Given the description of an element on the screen output the (x, y) to click on. 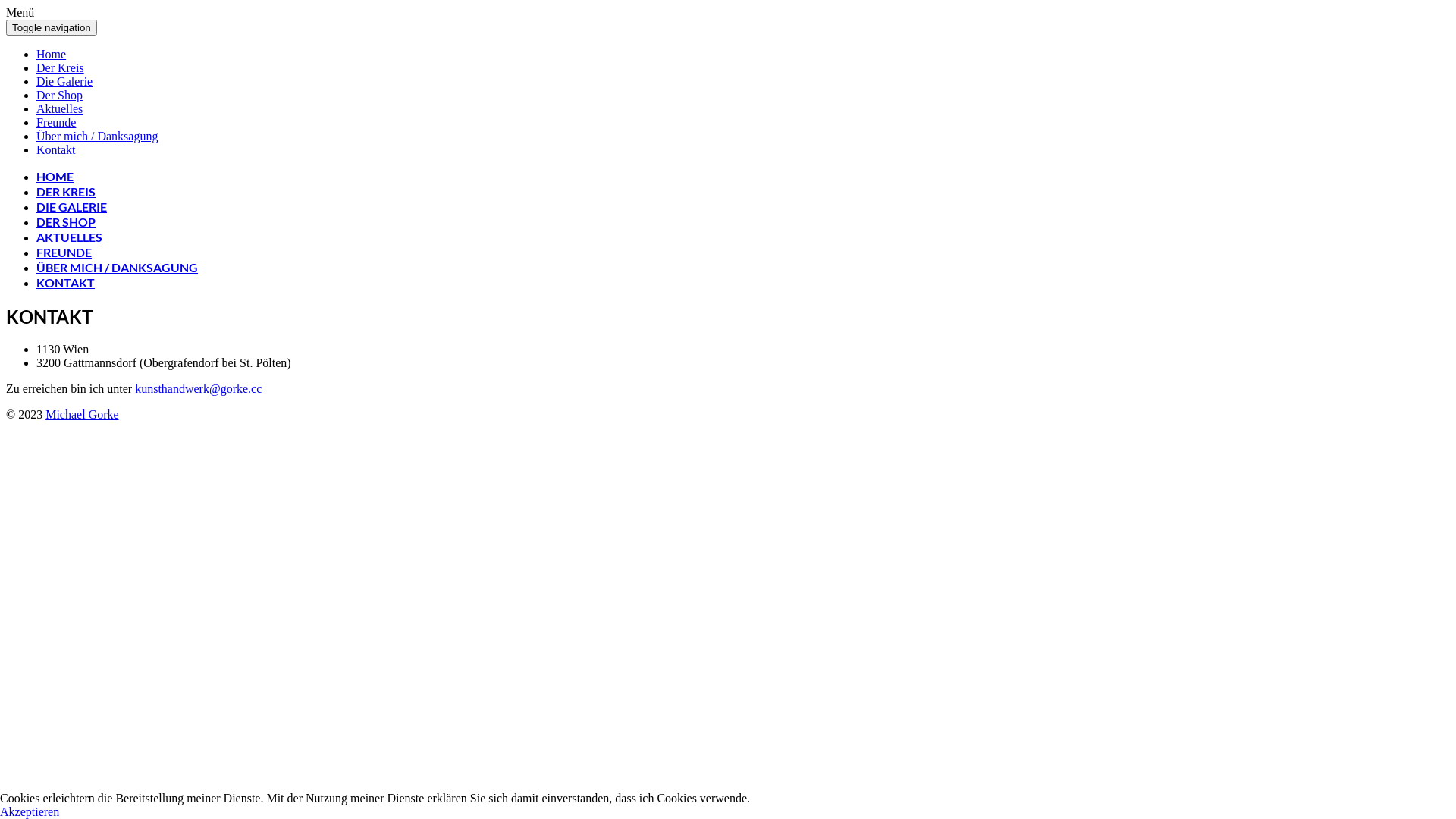
FREUNDE Element type: text (63, 251)
Freunde Element type: text (55, 122)
Akzeptieren Element type: text (29, 811)
DER KREIS Element type: text (65, 191)
Der Shop Element type: text (59, 94)
Home Element type: text (50, 53)
kunsthandwerk@gorke.cc Element type: text (197, 388)
Die Galerie Element type: text (64, 81)
KONTAKT Element type: text (65, 282)
Toggle navigation Element type: text (51, 27)
Michael Gorke Element type: text (81, 413)
Der Kreis Element type: text (60, 67)
Kontakt Element type: text (55, 149)
DIE GALERIE Element type: text (71, 206)
HOME Element type: text (54, 176)
AKTUELLES Element type: text (69, 236)
Aktuelles Element type: text (59, 108)
DER SHOP Element type: text (65, 221)
